Given the description of an element on the screen output the (x, y) to click on. 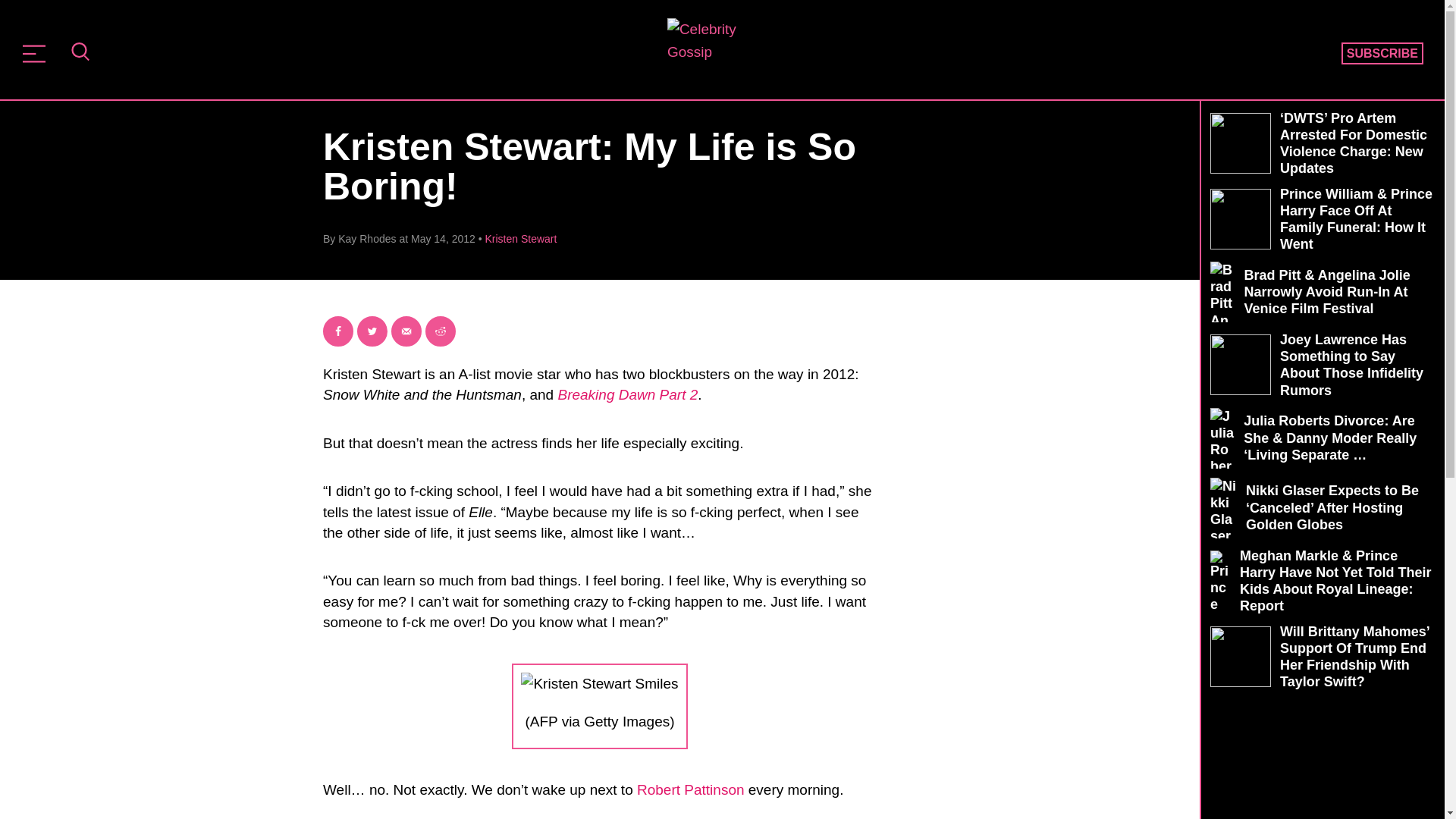
Kristen Stewart (520, 238)
Robert Pattinson (690, 789)
The Hollywood Gossip (716, 48)
Breaking Dawn Part 2 (627, 394)
Share on Facebook (338, 331)
Share on Reddit (440, 331)
SEARCH (79, 53)
SUBSCRIBE (1381, 53)
Kay Rhodes (366, 238)
